Given the description of an element on the screen output the (x, y) to click on. 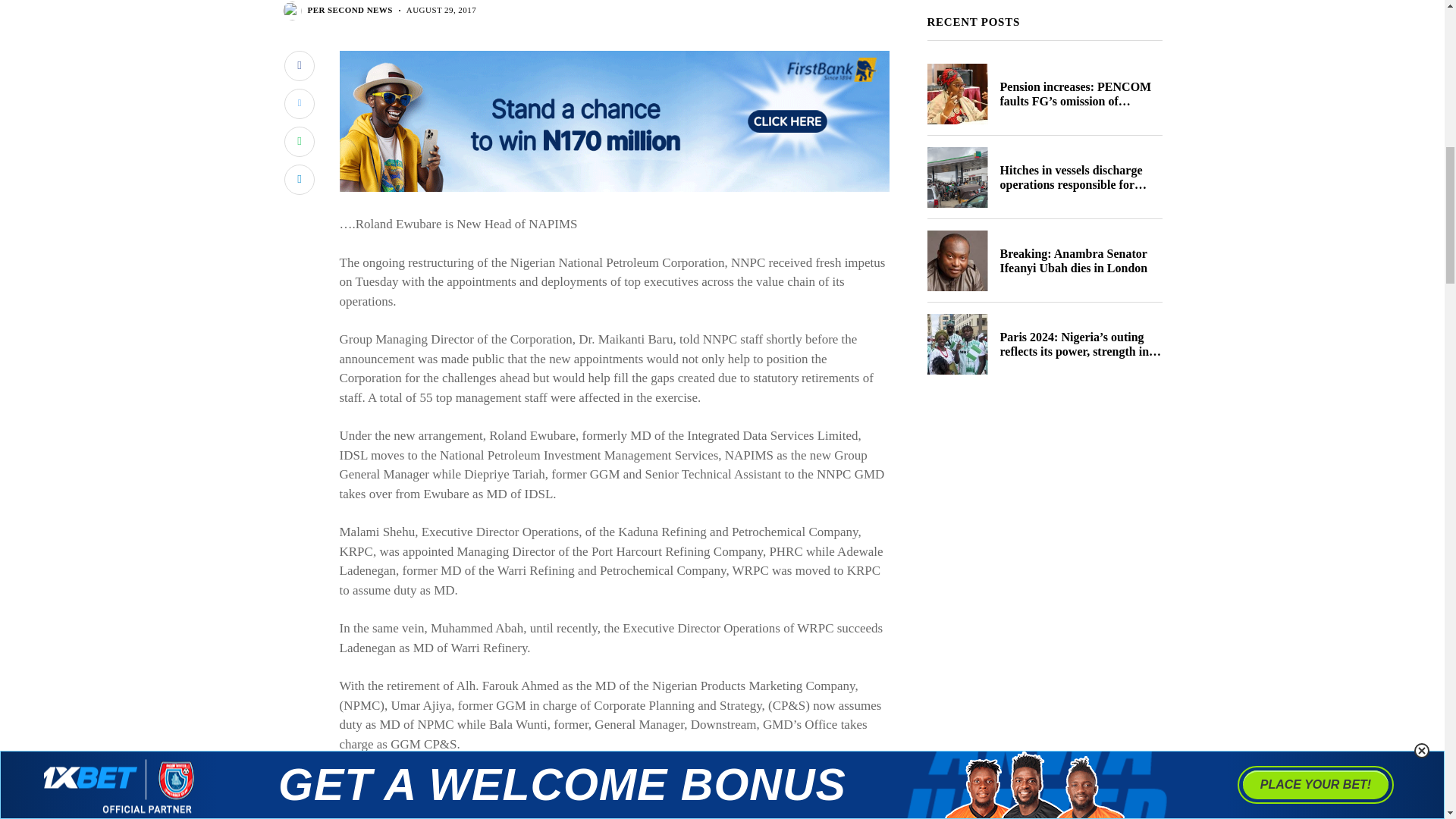
Posts by Per Second News (350, 9)
